Given the description of an element on the screen output the (x, y) to click on. 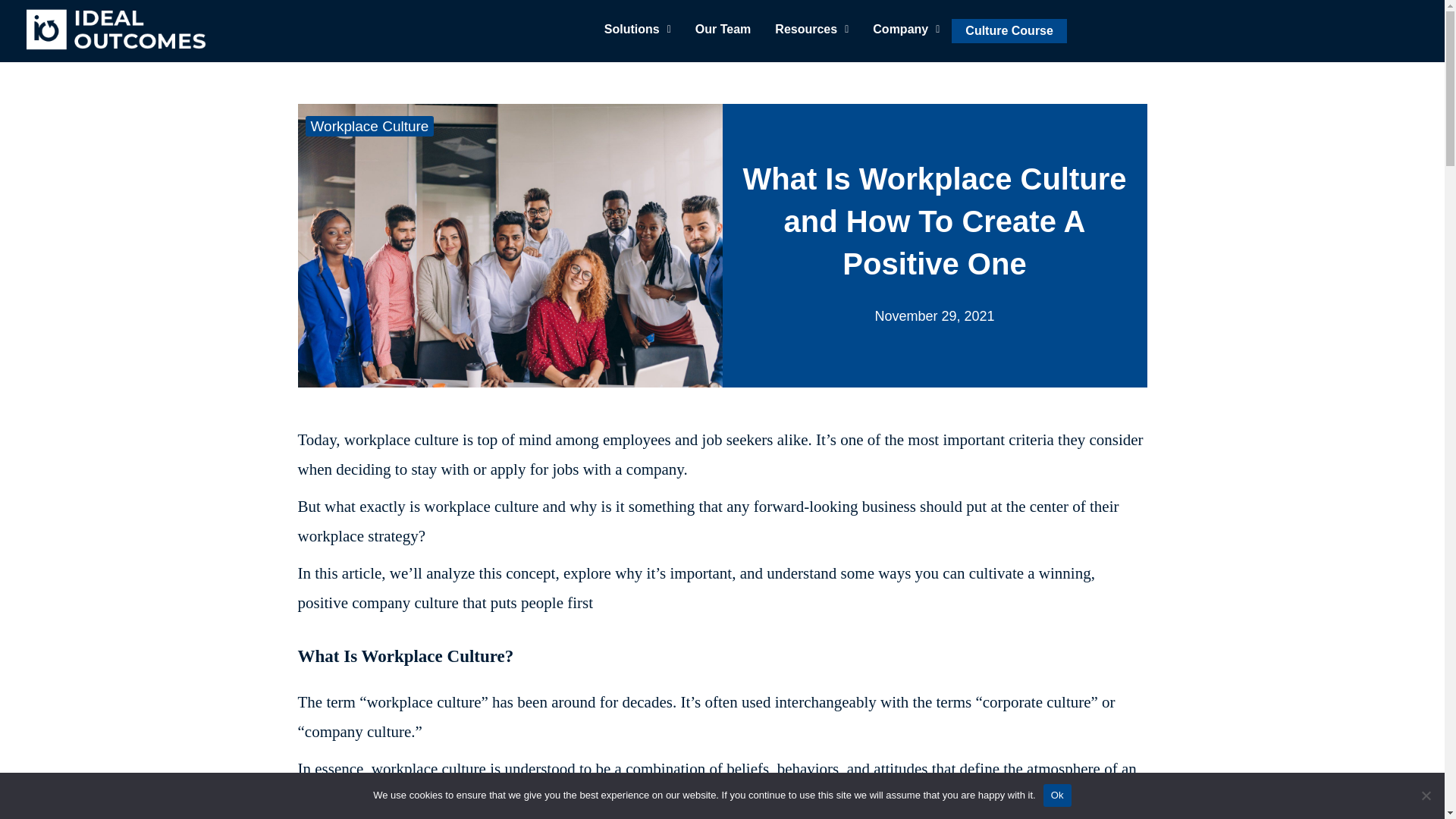
Our Team (722, 29)
Company (906, 29)
No (1425, 795)
Workplace Culture (368, 126)
Resources (811, 29)
Solutions (637, 29)
Culture Course (1009, 30)
